Given the description of an element on the screen output the (x, y) to click on. 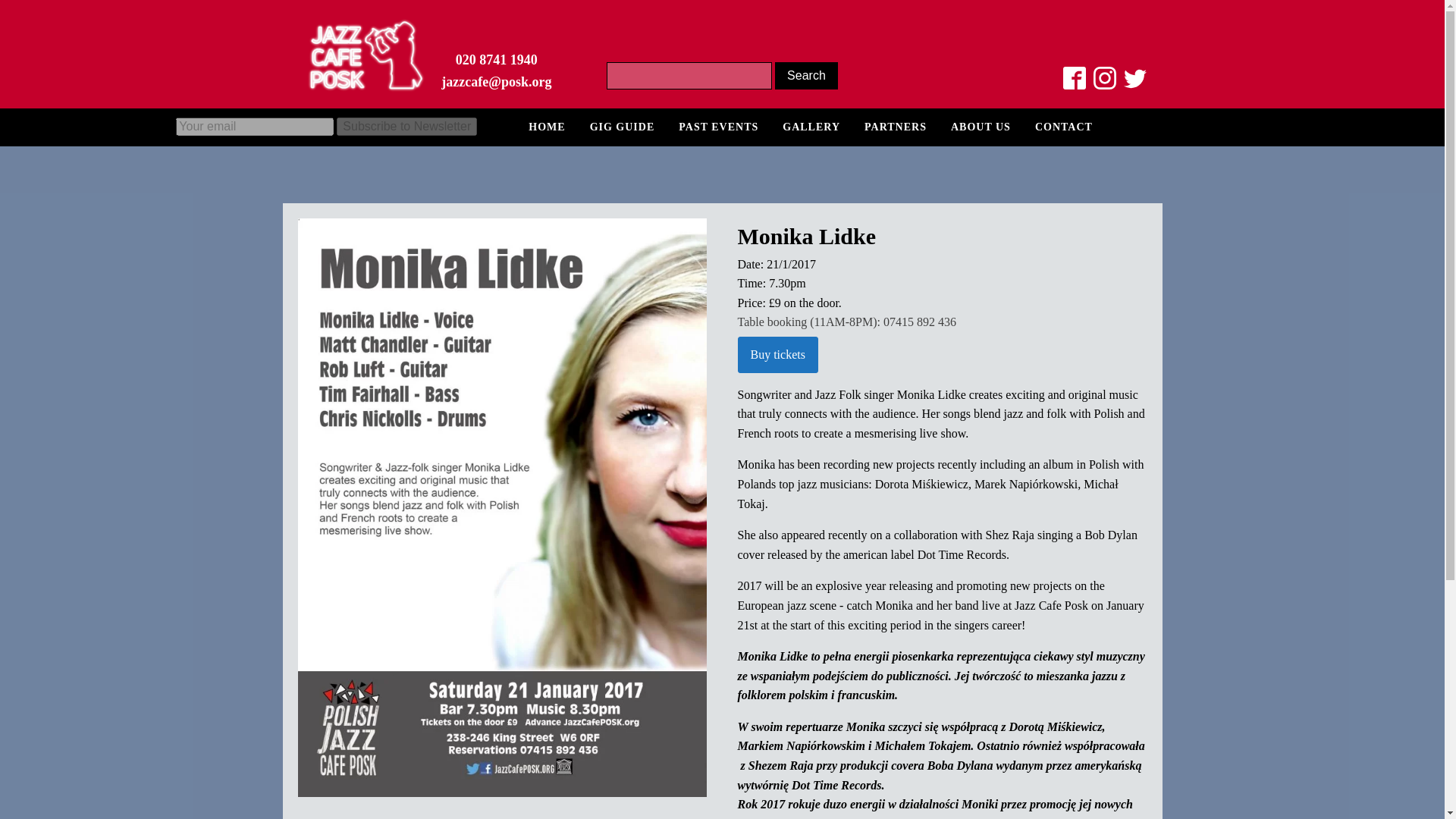
Search (806, 75)
PARTNERS (895, 127)
HOME (546, 127)
Search (806, 75)
GALLERY (810, 127)
Subscribe to Newsletter (406, 126)
ABOUT US (981, 127)
Subscribe to Newsletter (406, 126)
CONTACT (1064, 127)
Buy tickets (776, 354)
